Given the description of an element on the screen output the (x, y) to click on. 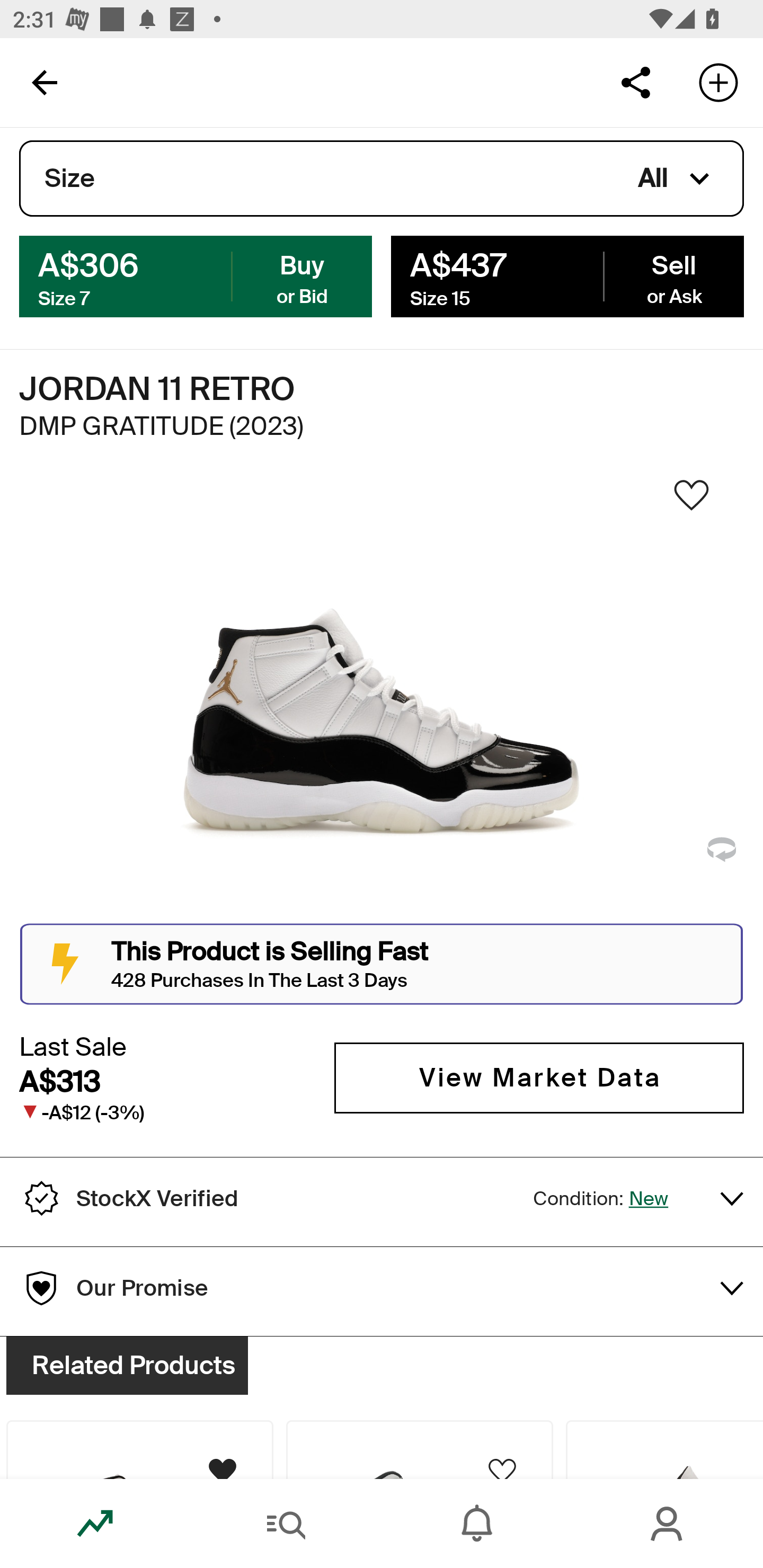
Share (635, 81)
Add (718, 81)
Size All (381, 178)
A$306 Buy Size 7 or Bid (195, 275)
A$437 Sell Size 15 or Ask (566, 275)
Sneaker Image (381, 699)
View Market Data (538, 1077)
Search (285, 1523)
Inbox (476, 1523)
Account (667, 1523)
